Given the description of an element on the screen output the (x, y) to click on. 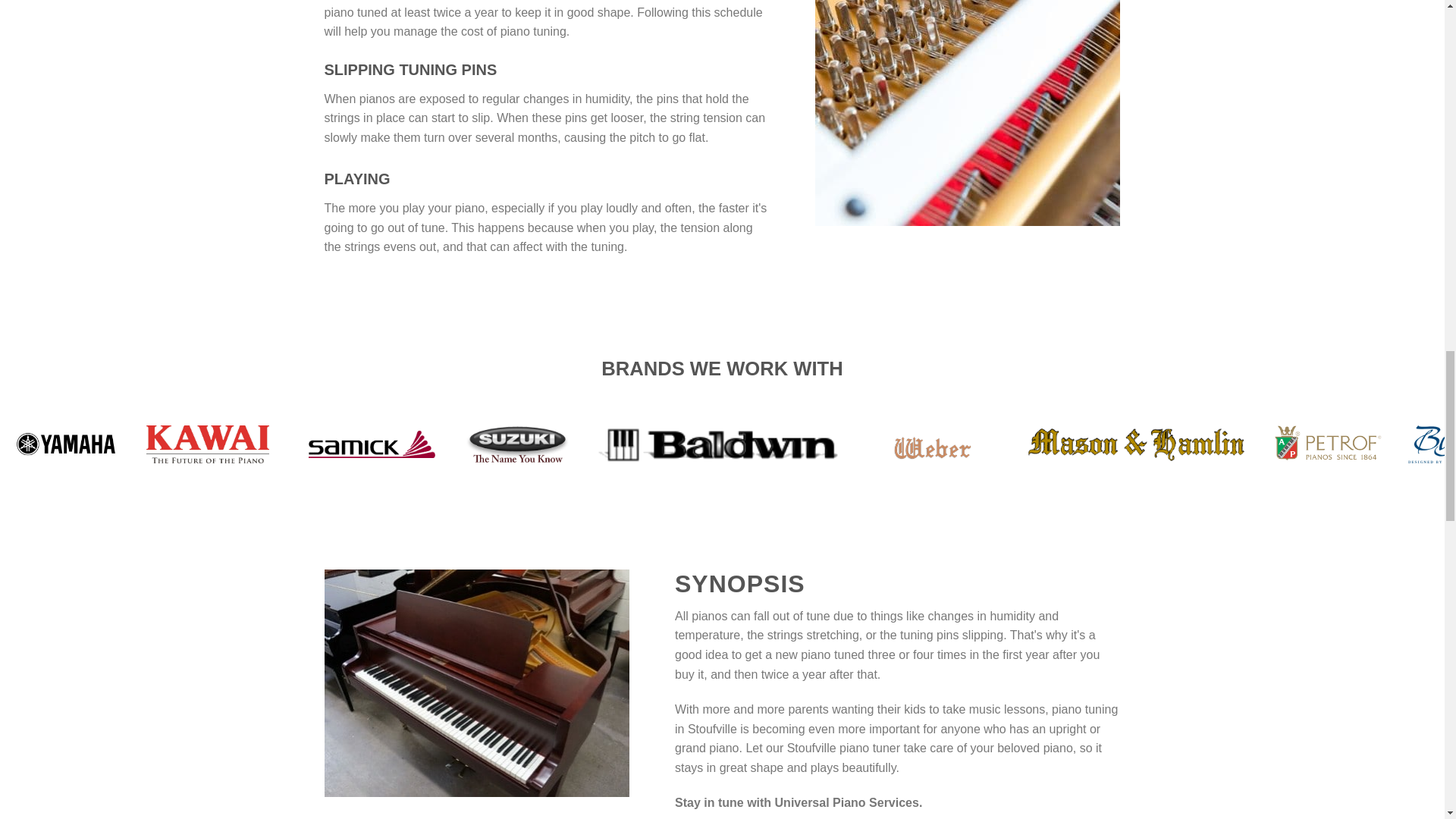
piano tune Stoufville (967, 113)
